Given the description of an element on the screen output the (x, y) to click on. 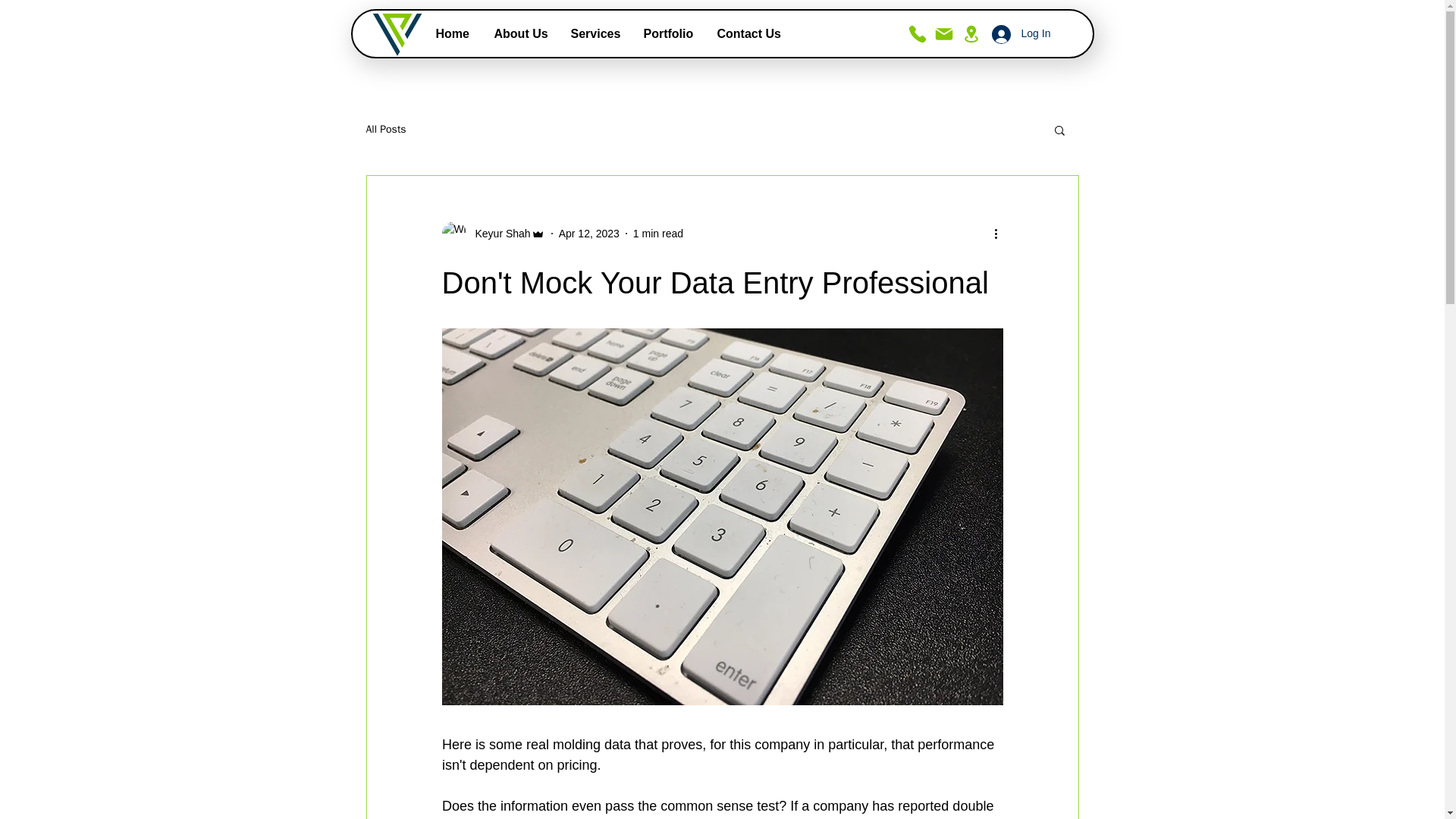
1 min read (657, 233)
Keyur Shah (497, 233)
Keyur Shah (492, 233)
All Posts (385, 129)
VP Internationals - Logo (396, 34)
Apr 12, 2023 (589, 233)
Log In (1021, 33)
Contact Us (748, 33)
About Us (520, 33)
Home (454, 33)
Portfolio (668, 33)
